Given the description of an element on the screen output the (x, y) to click on. 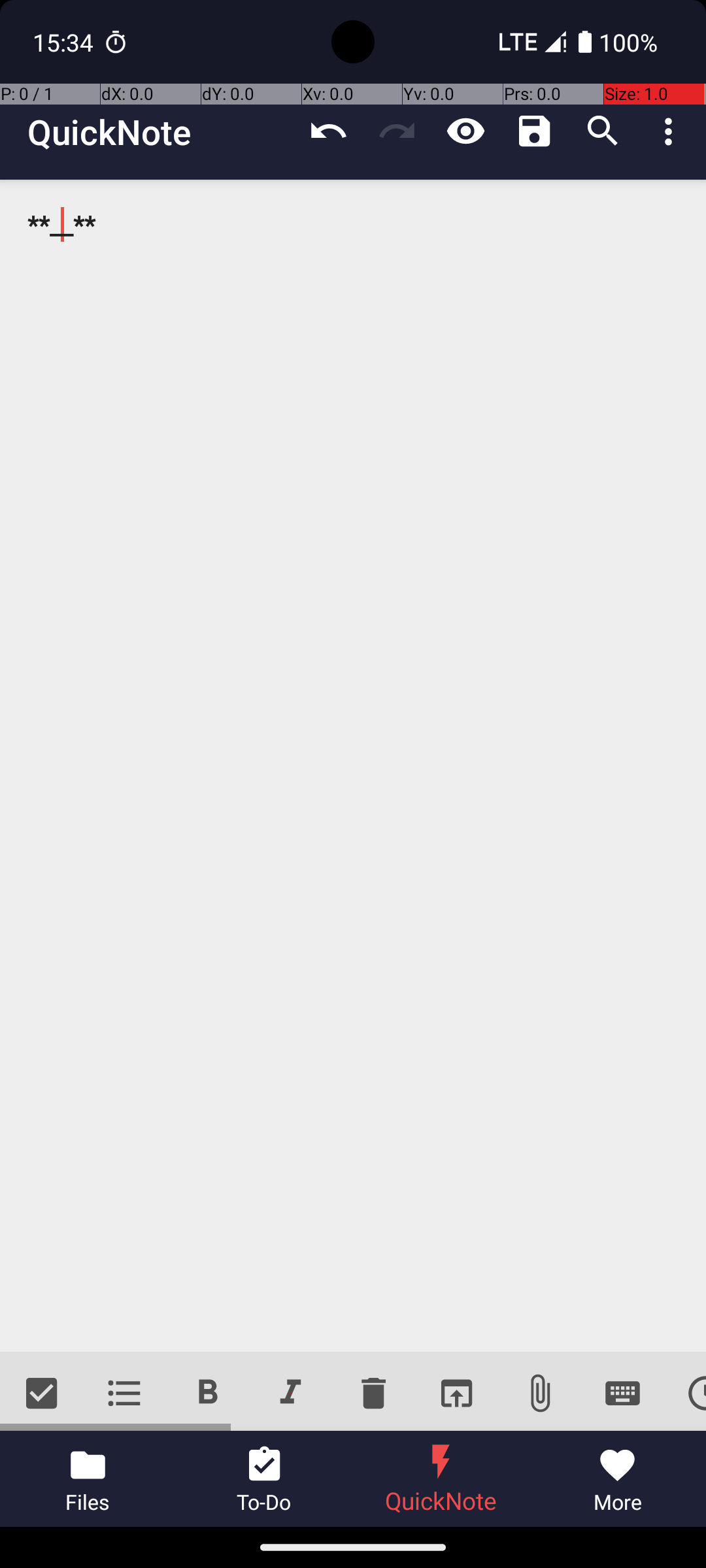
**__** Element type: android.widget.EditText (353, 765)
